Given the description of an element on the screen output the (x, y) to click on. 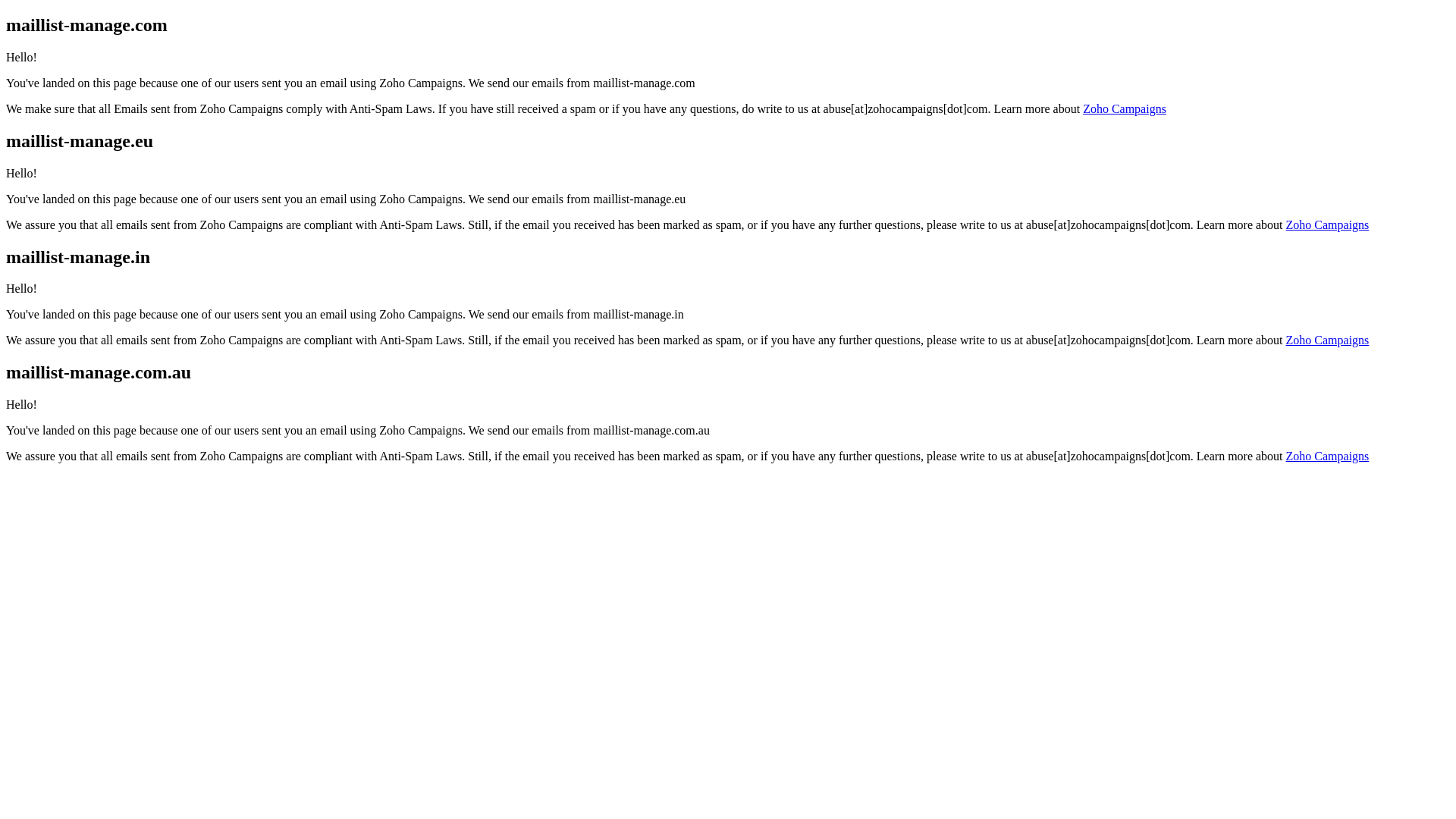
Zoho Campaigns Element type: text (1327, 339)
Zoho Campaigns Element type: text (1327, 224)
Zoho Campaigns Element type: text (1124, 108)
Zoho Campaigns Element type: text (1327, 455)
